Given the description of an element on the screen output the (x, y) to click on. 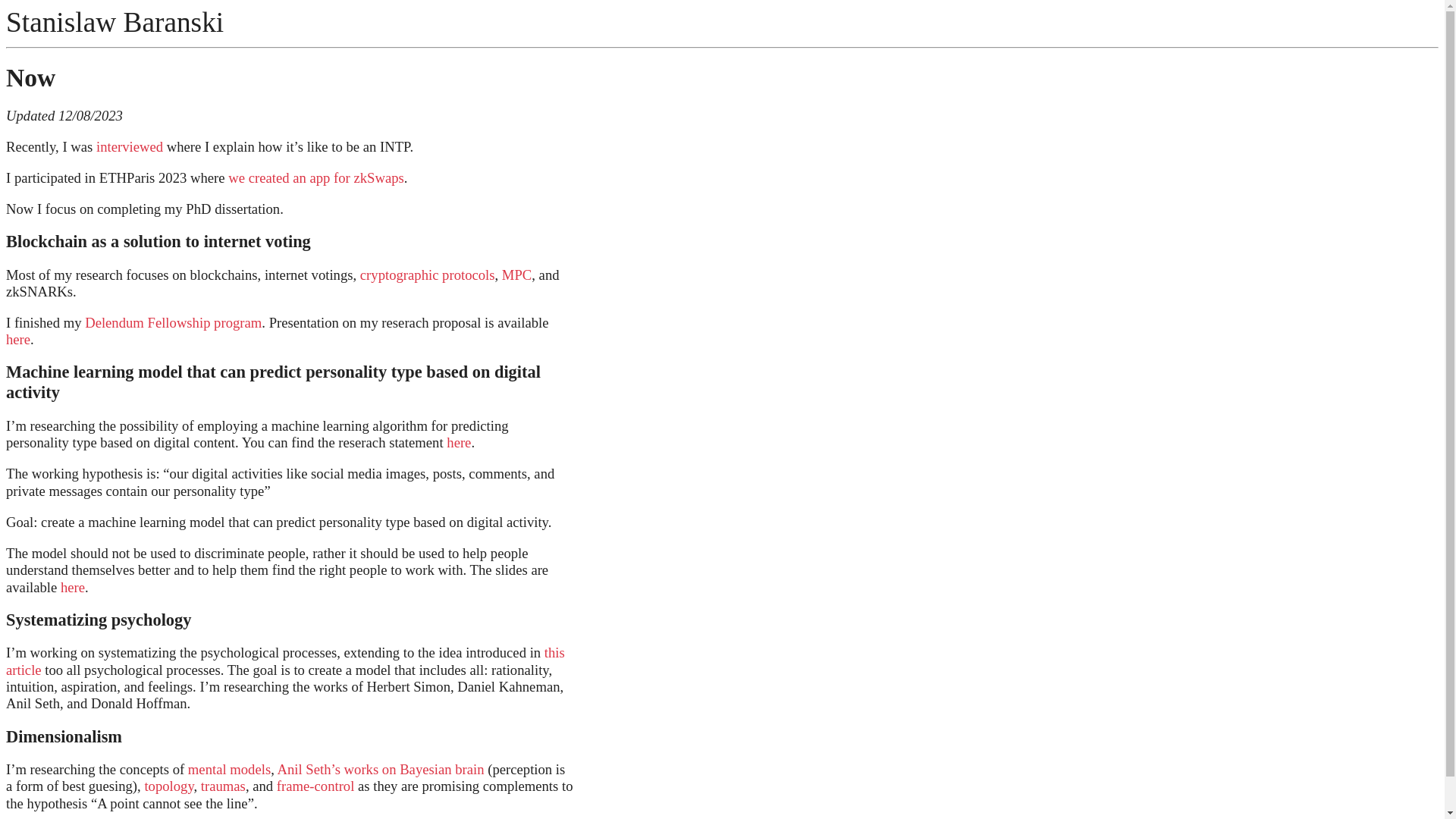
mental models Element type: text (229, 769)
frame-control Element type: text (315, 785)
Delendum Fellowship program Element type: text (172, 322)
traumas Element type: text (222, 785)
here Element type: text (458, 442)
Stanislaw Baranski Element type: text (114, 21)
cryptographic protocols Element type: text (427, 274)
this article Element type: text (285, 660)
here Element type: text (72, 587)
we created an app for zkSwaps Element type: text (316, 177)
topology Element type: text (168, 785)
here Element type: text (18, 339)
MPC Element type: text (516, 274)
interviewed Element type: text (129, 146)
